Given the description of an element on the screen output the (x, y) to click on. 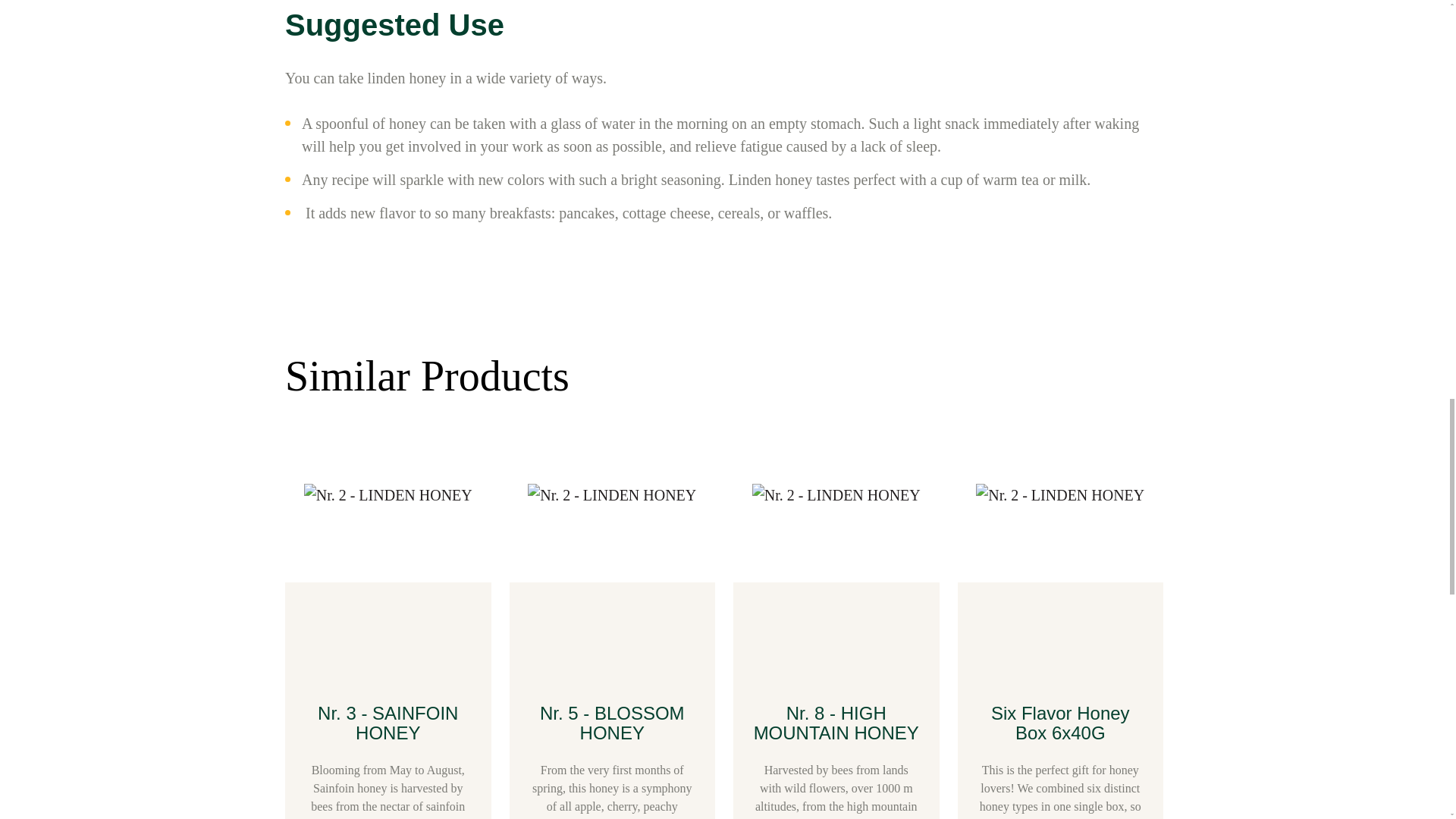
Nr. 8 - HIGH MOUNTAIN HONEY (836, 722)
Nr. 3 - SAINFOIN HONEY (387, 722)
Nr. 5 - BLOSSOM HONEY (612, 722)
Six Flavor Honey Box 6x40G (1060, 722)
